Given the description of an element on the screen output the (x, y) to click on. 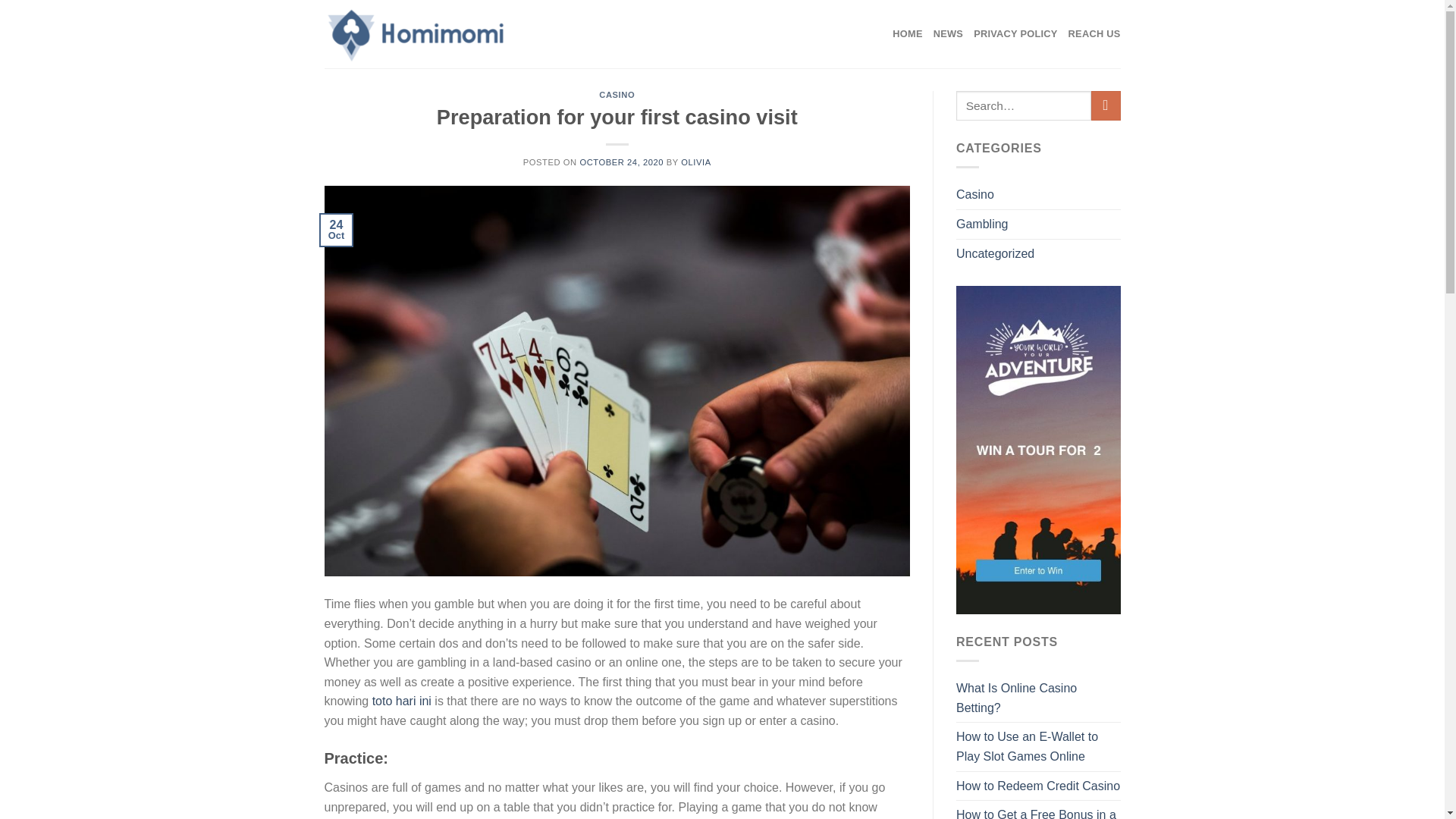
How to Redeem Credit Casino (1037, 786)
OCTOBER 24, 2020 (621, 162)
What Is Online Casino Betting? (1038, 697)
How to Use an E-Wallet to Play Slot Games Online (1038, 746)
CASINO (616, 94)
HOME (906, 33)
toto hari ini (399, 700)
Gambling (981, 224)
How to Get a Free Bonus in a Casino (1038, 809)
Homimomi - Win yourself. (467, 33)
NEWS (947, 33)
Uncategorized (994, 253)
OLIVIA (695, 162)
PRIVACY POLICY (1015, 33)
